Given the description of an element on the screen output the (x, y) to click on. 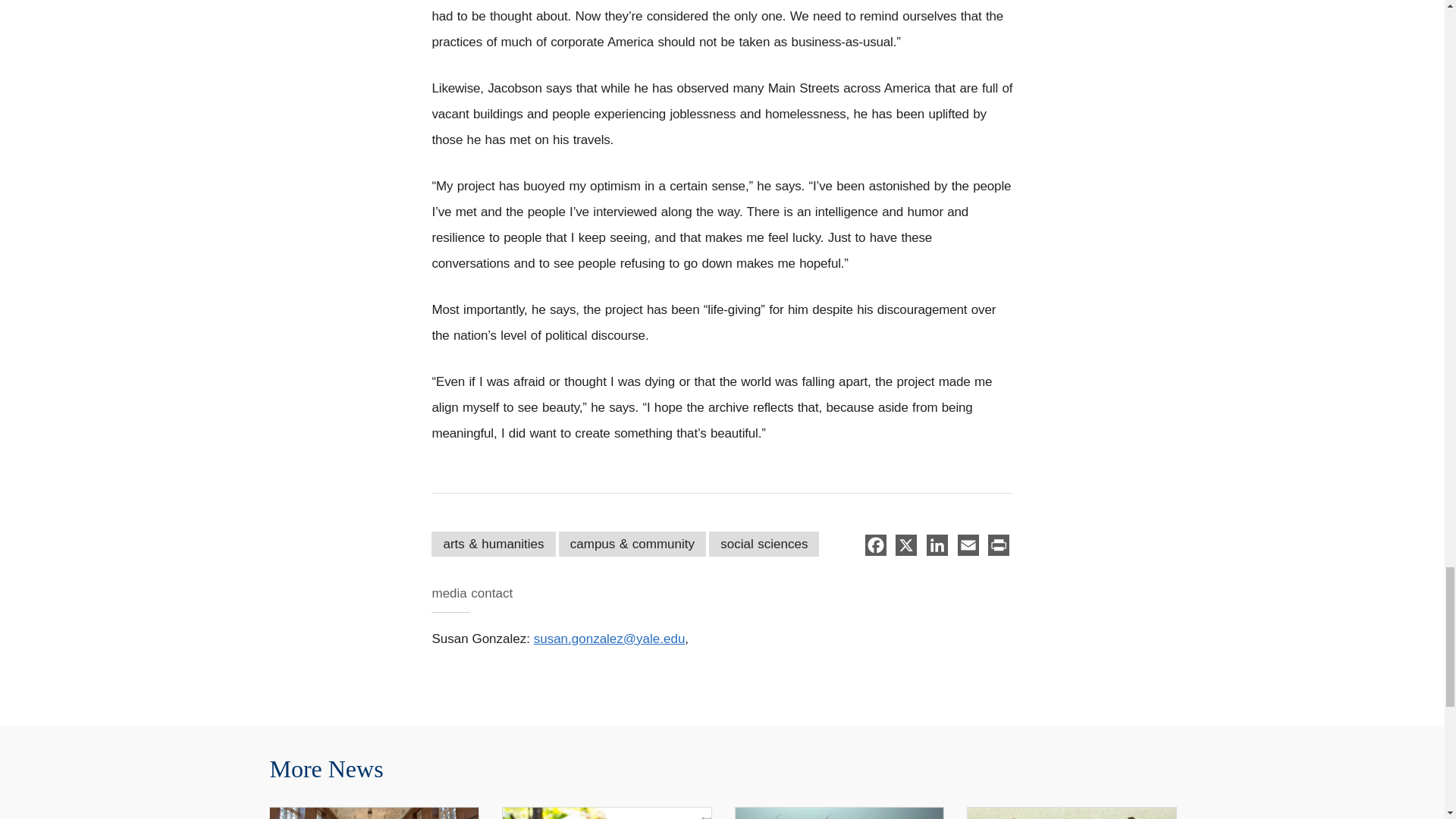
social sciences (763, 543)
